Given the description of an element on the screen output the (x, y) to click on. 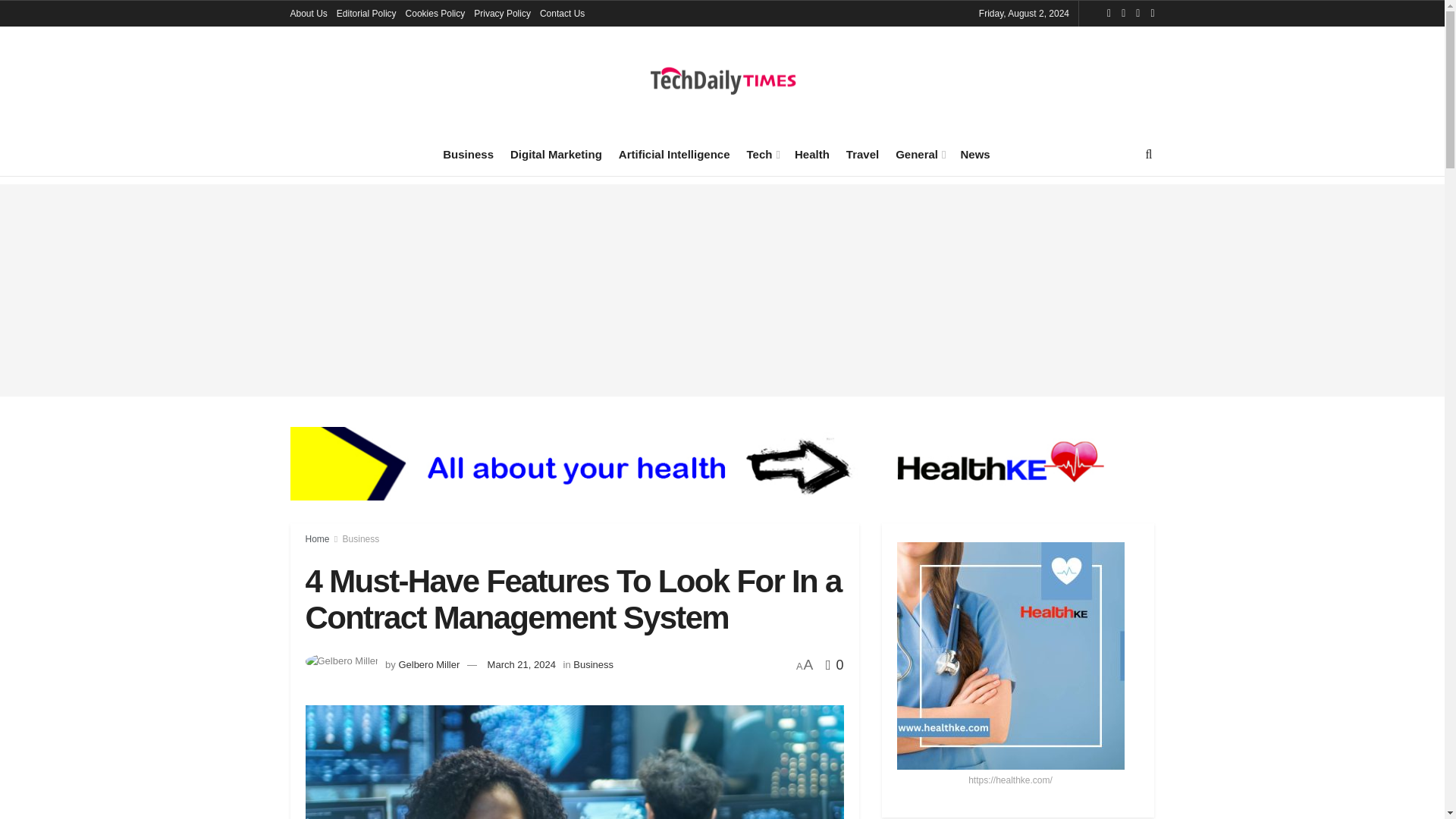
Cookies Policy (435, 13)
Privacy Policy (502, 13)
Business (467, 154)
Digital Marketing (556, 154)
About Us (307, 13)
General (919, 154)
Contact Us (562, 13)
Artificial Intelligence (674, 154)
Editorial Policy (366, 13)
